Given the description of an element on the screen output the (x, y) to click on. 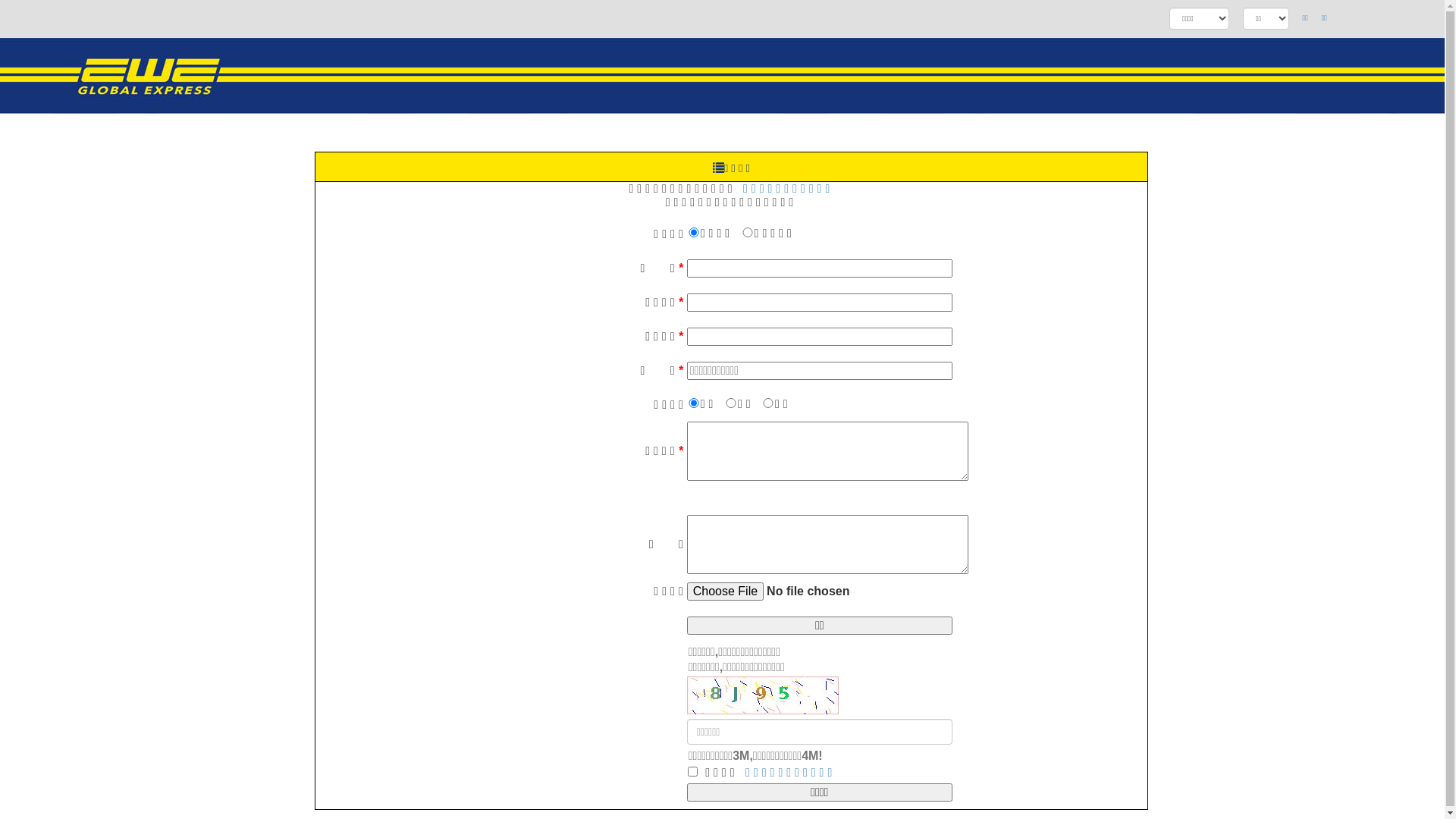
0 Element type: text (693, 402)
1 Element type: text (730, 402)
2 Element type: text (768, 402)
